Given the description of an element on the screen output the (x, y) to click on. 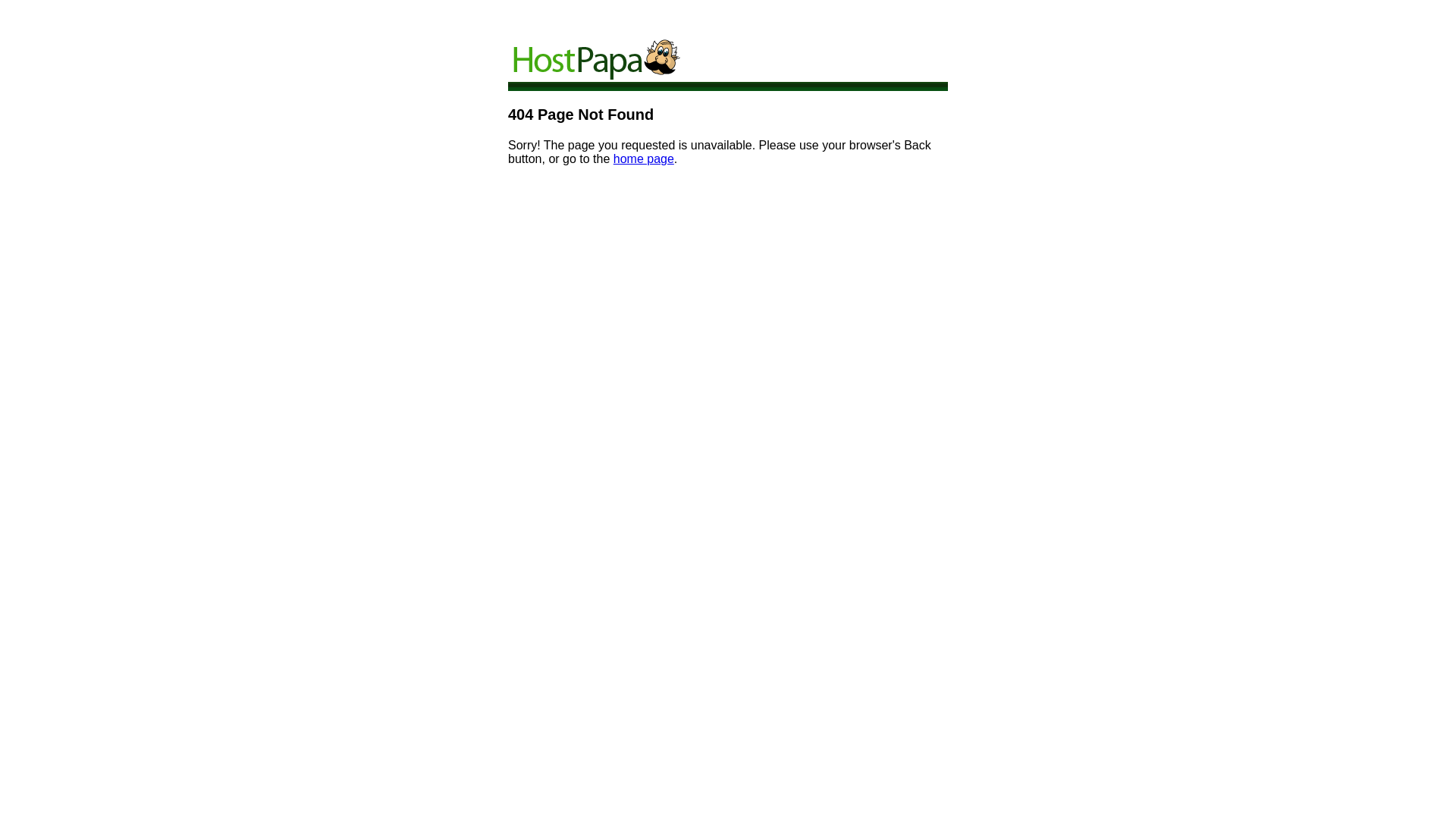
home page Element type: text (643, 158)
